Given the description of an element on the screen output the (x, y) to click on. 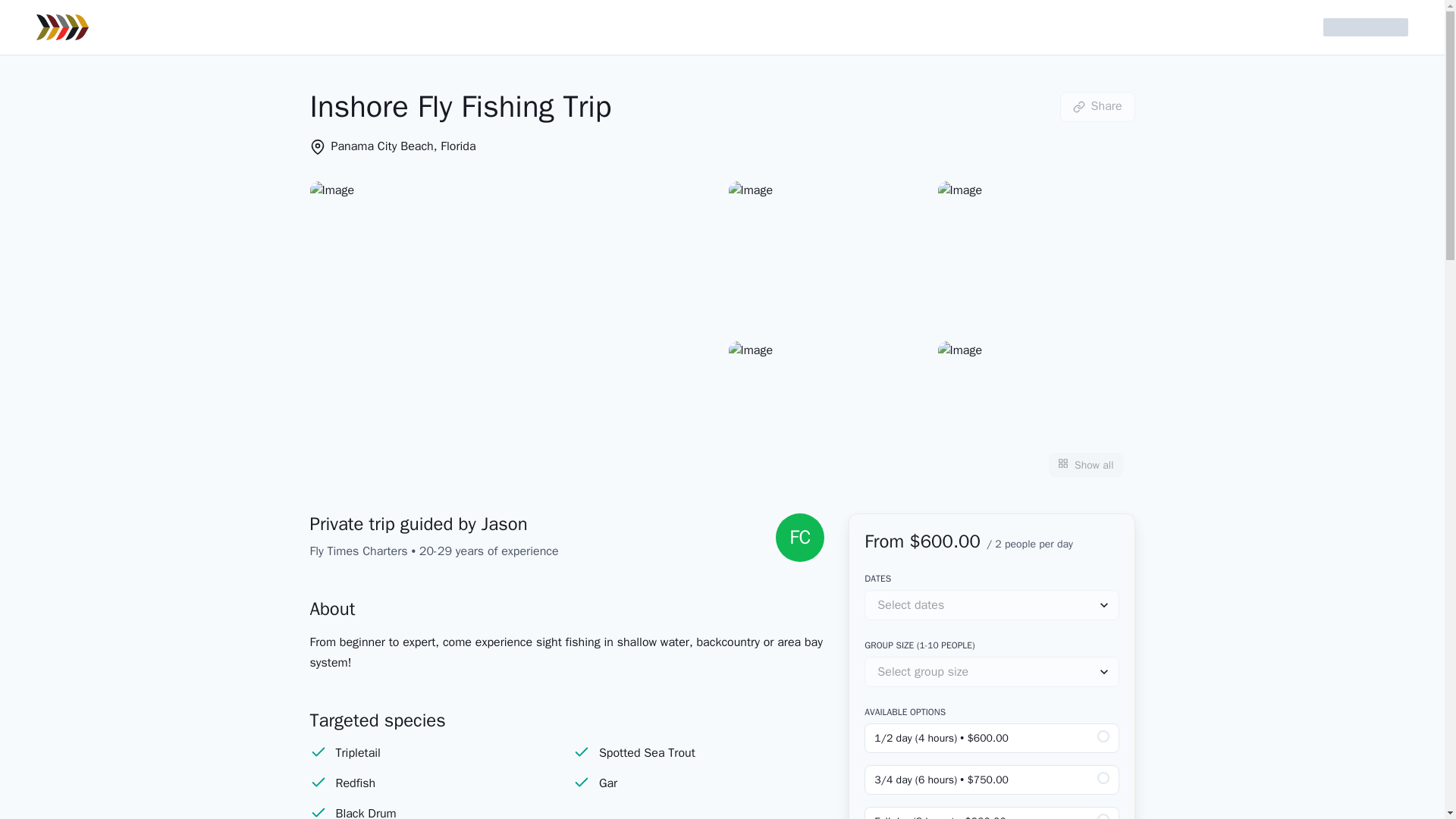
Fly Times Charters (357, 550)
Share (1097, 105)
Show all (1085, 464)
FC (800, 537)
